Given the description of an element on the screen output the (x, y) to click on. 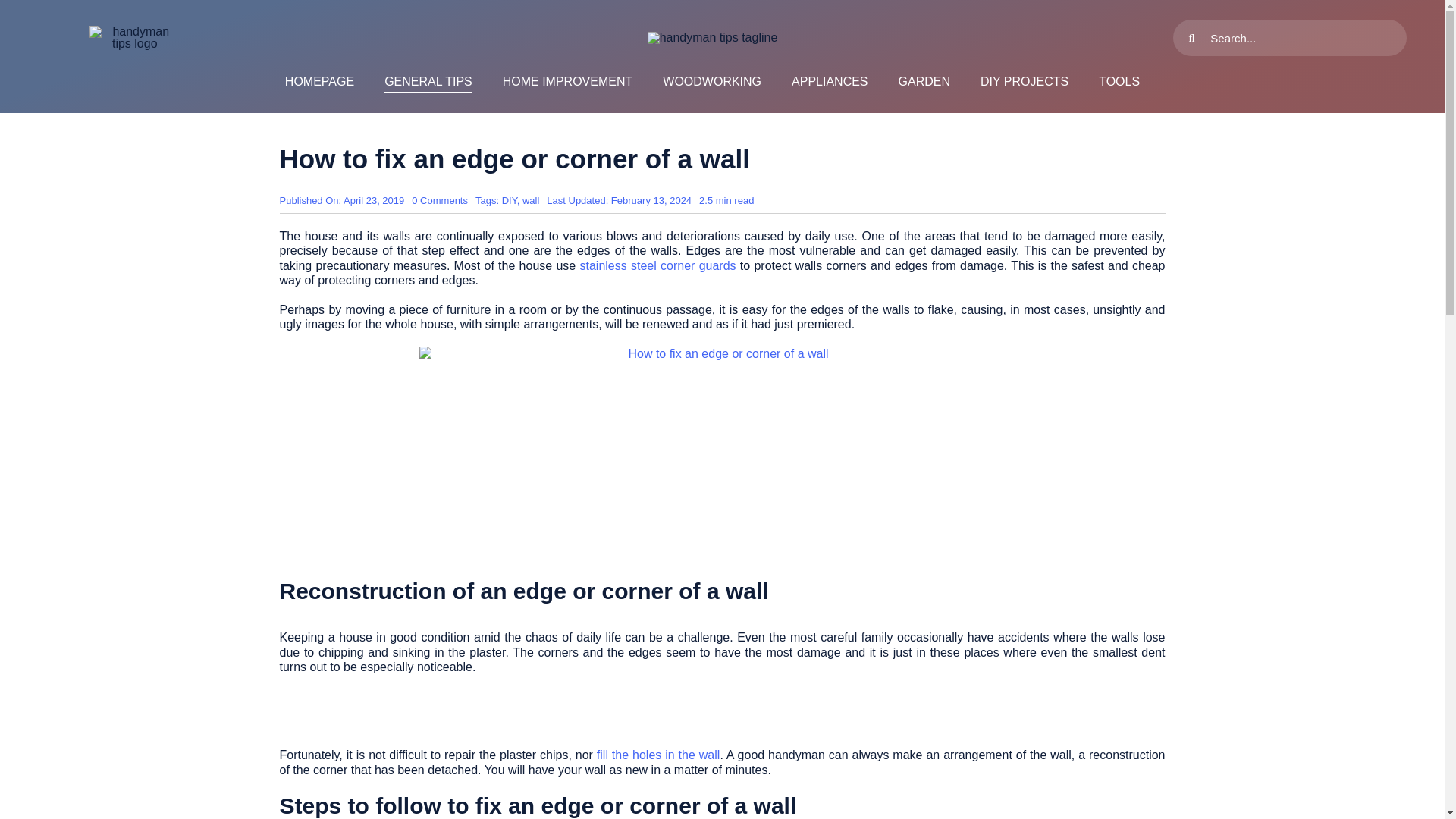
DIY (509, 200)
DIY PROJECTS (1023, 82)
HOMEPAGE (319, 82)
GENERAL TIPS (427, 82)
GARDEN (924, 82)
wall (530, 200)
TOOLS (1119, 82)
HOME IMPROVEMENT (567, 82)
stainless steel corner guards (657, 265)
handyman tips text (712, 37)
